Given the description of an element on the screen output the (x, y) to click on. 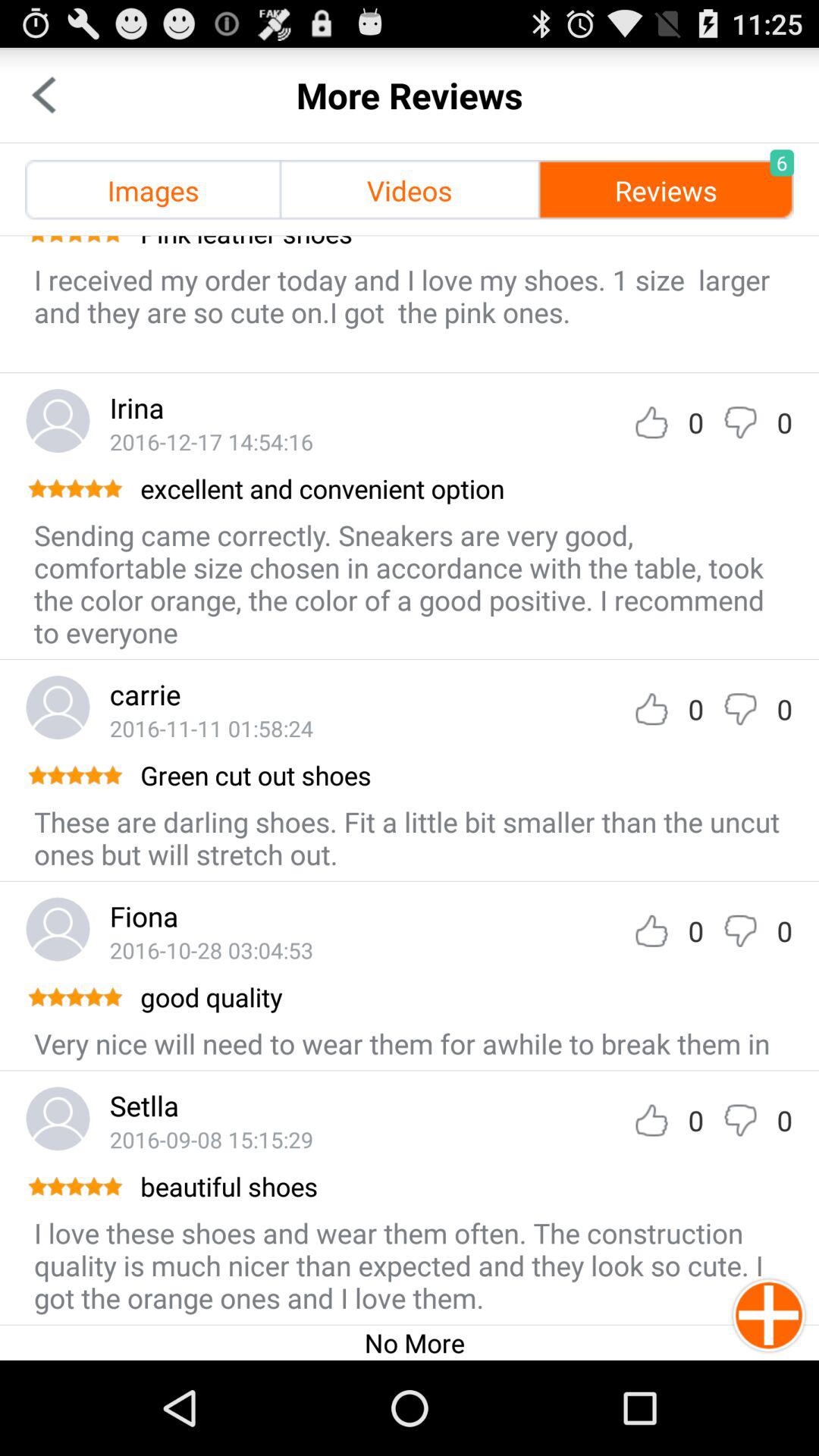
liked (651, 422)
